Given the description of an element on the screen output the (x, y) to click on. 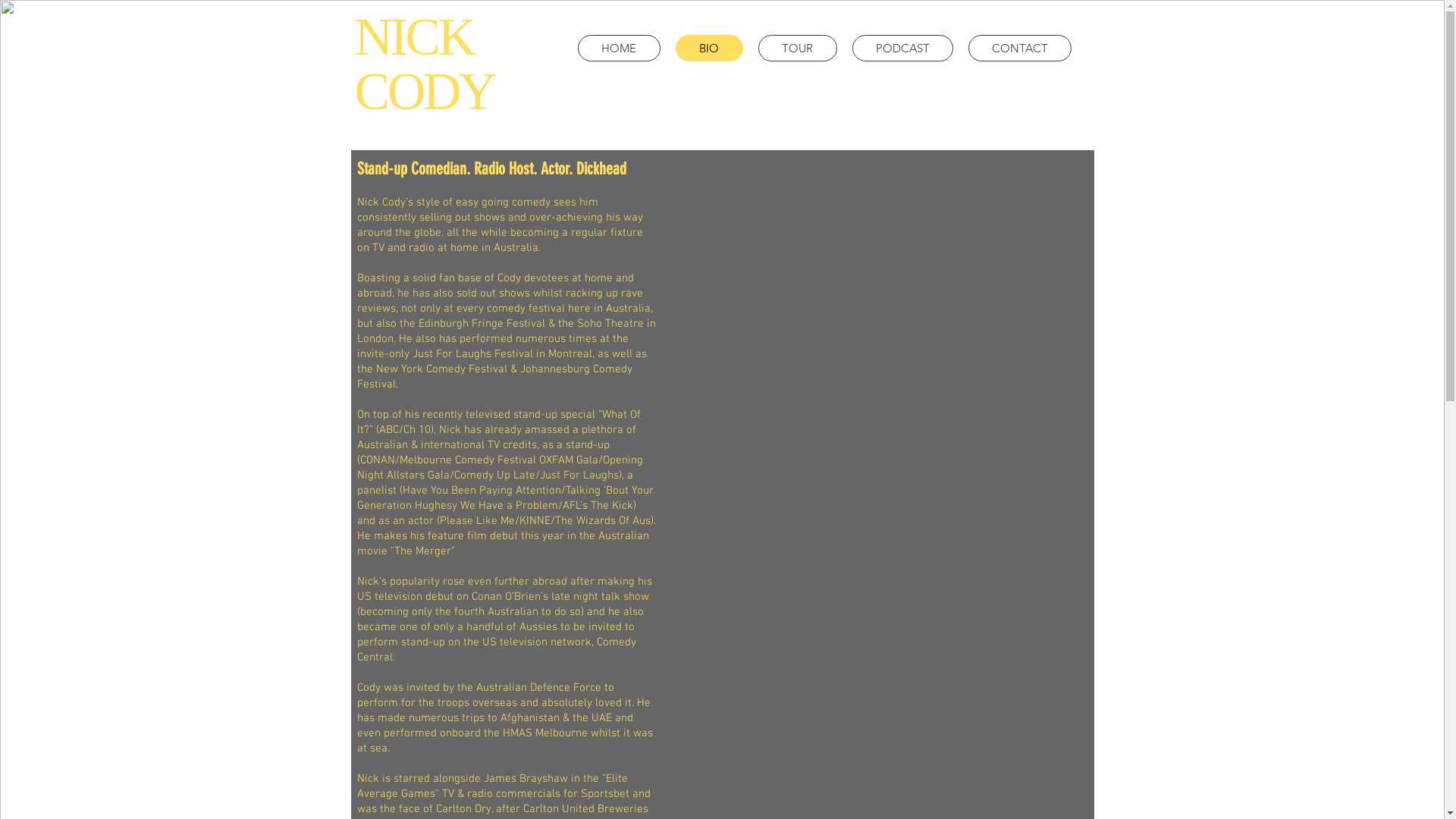
CONTACT Element type: text (1018, 47)
HOME Element type: text (618, 47)
TOUR Element type: text (797, 47)
PODCAST Element type: text (902, 47)
BIO Element type: text (708, 47)
